Given the description of an element on the screen output the (x, y) to click on. 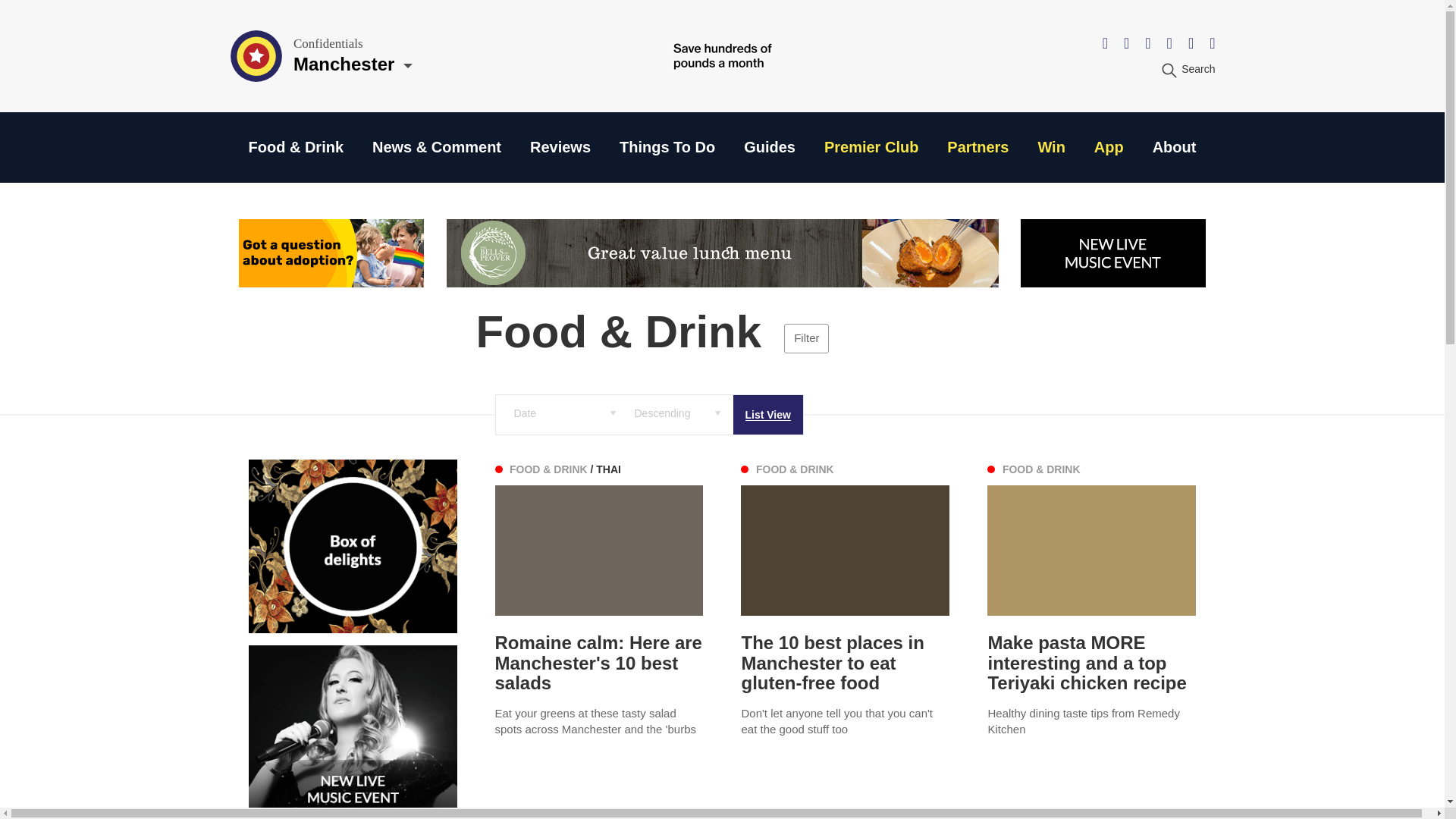
Premier Club (871, 146)
Reviews (560, 146)
About (1174, 146)
App (1109, 146)
Win (1050, 146)
Partners (978, 146)
Search (1187, 69)
Guides (769, 146)
Things To Do (667, 146)
